Given the description of an element on the screen output the (x, y) to click on. 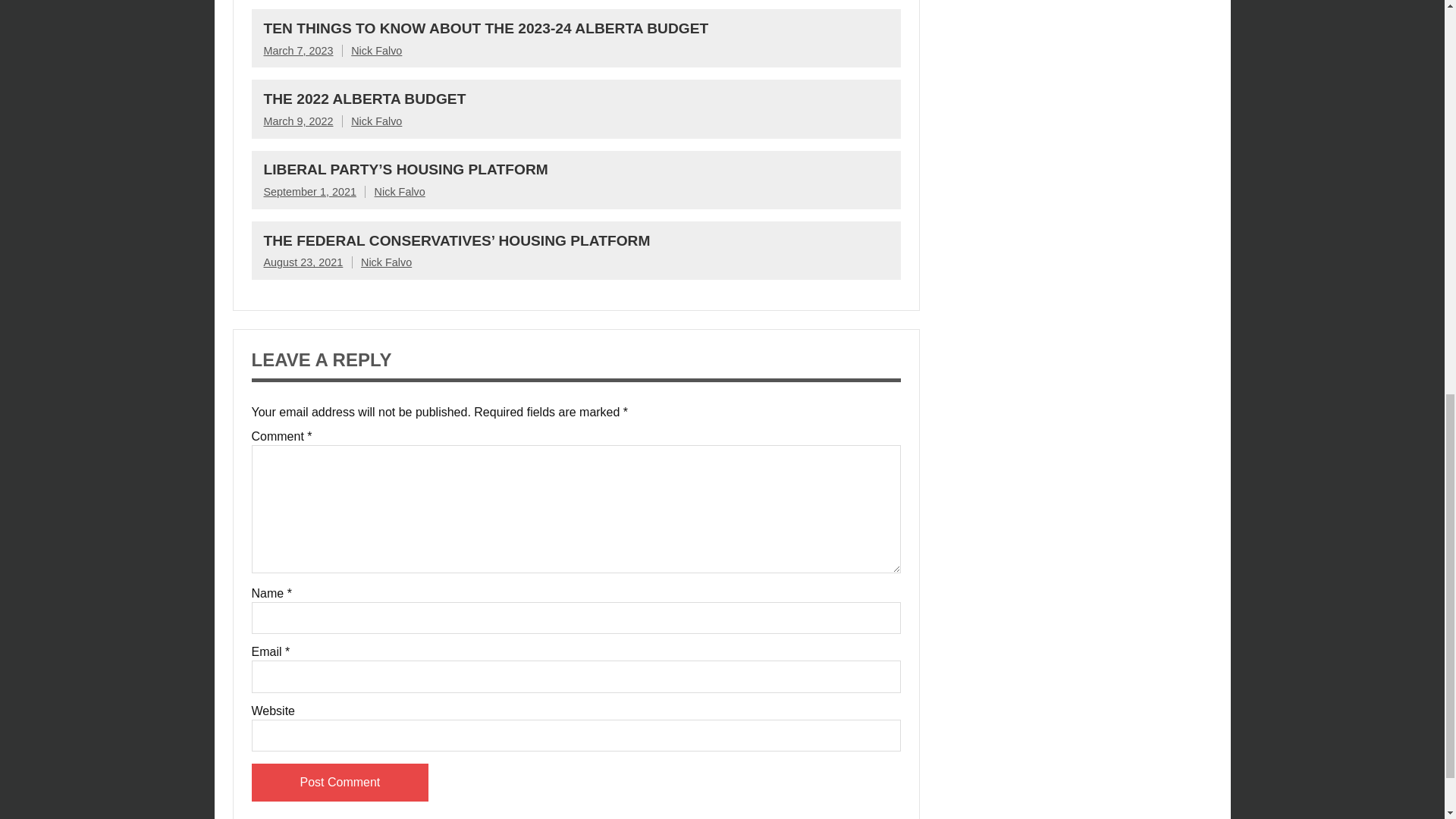
Nick Falvo (375, 50)
THE 2022 ALBERTA BUDGET (364, 98)
Nick Falvo (399, 191)
March 9, 2022 (298, 121)
8:25 am (309, 191)
Post Comment (340, 782)
August 23, 2021 (303, 262)
5:03 pm (303, 262)
6:46 pm (298, 121)
View all posts by Nick Falvo (375, 50)
View all posts by Nick Falvo (375, 121)
TEN THINGS TO KNOW ABOUT THE 2023-24 ALBERTA BUDGET (486, 28)
September 1, 2021 (309, 191)
View all posts by Nick Falvo (399, 191)
12:13 pm (298, 50)
